Given the description of an element on the screen output the (x, y) to click on. 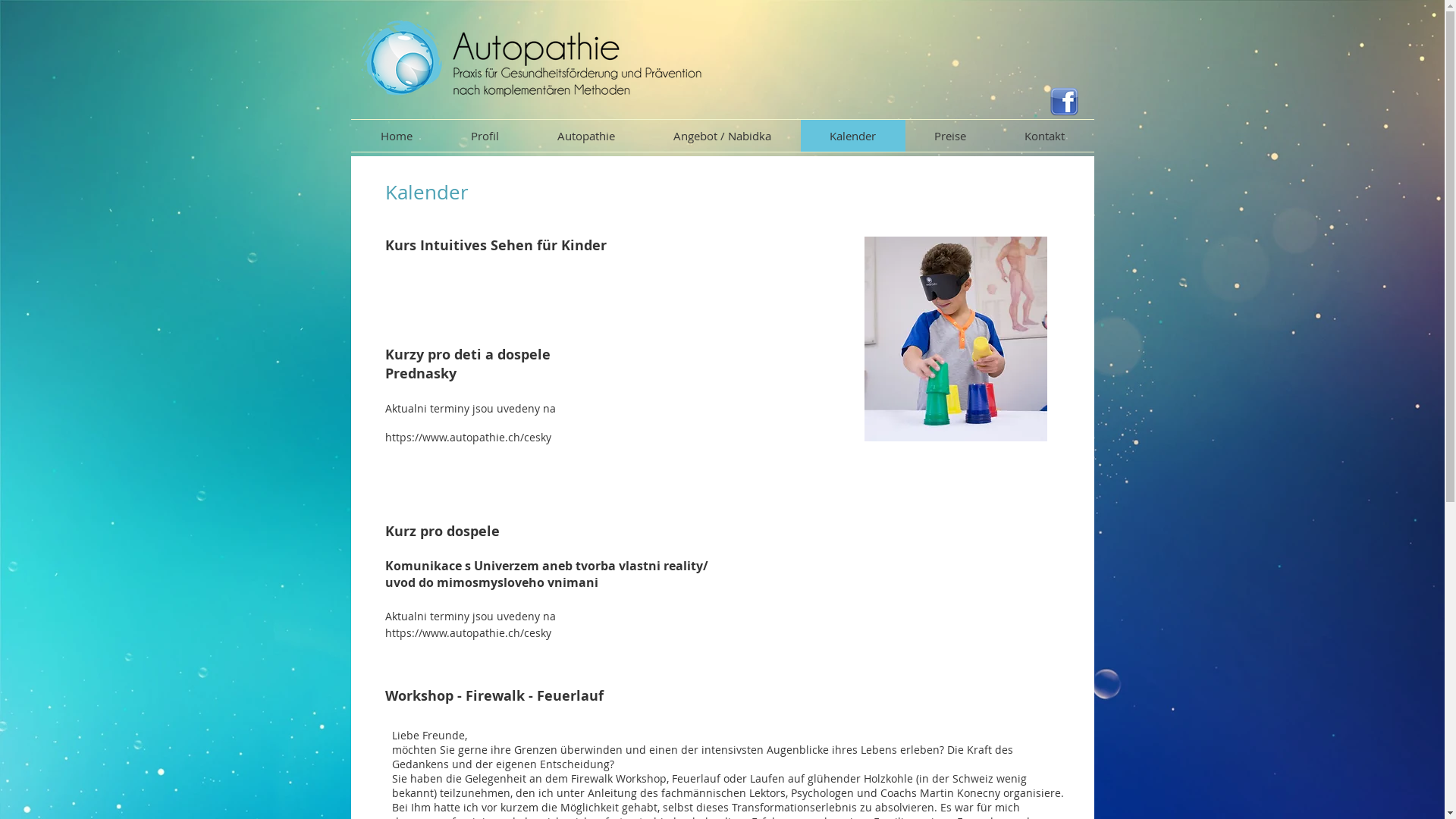
Profil Element type: text (484, 135)
Kontakt Element type: text (1043, 135)
Autopathie Element type: text (585, 135)
Preise Element type: text (950, 135)
Angebot / Nabidka Element type: text (722, 135)
Kalender Element type: text (852, 135)
Home Element type: text (395, 135)
https://www.autopathie.ch/cesky Element type: text (468, 632)
https://www.autopathie.ch/cesky Element type: text (468, 436)
